Given the description of an element on the screen output the (x, y) to click on. 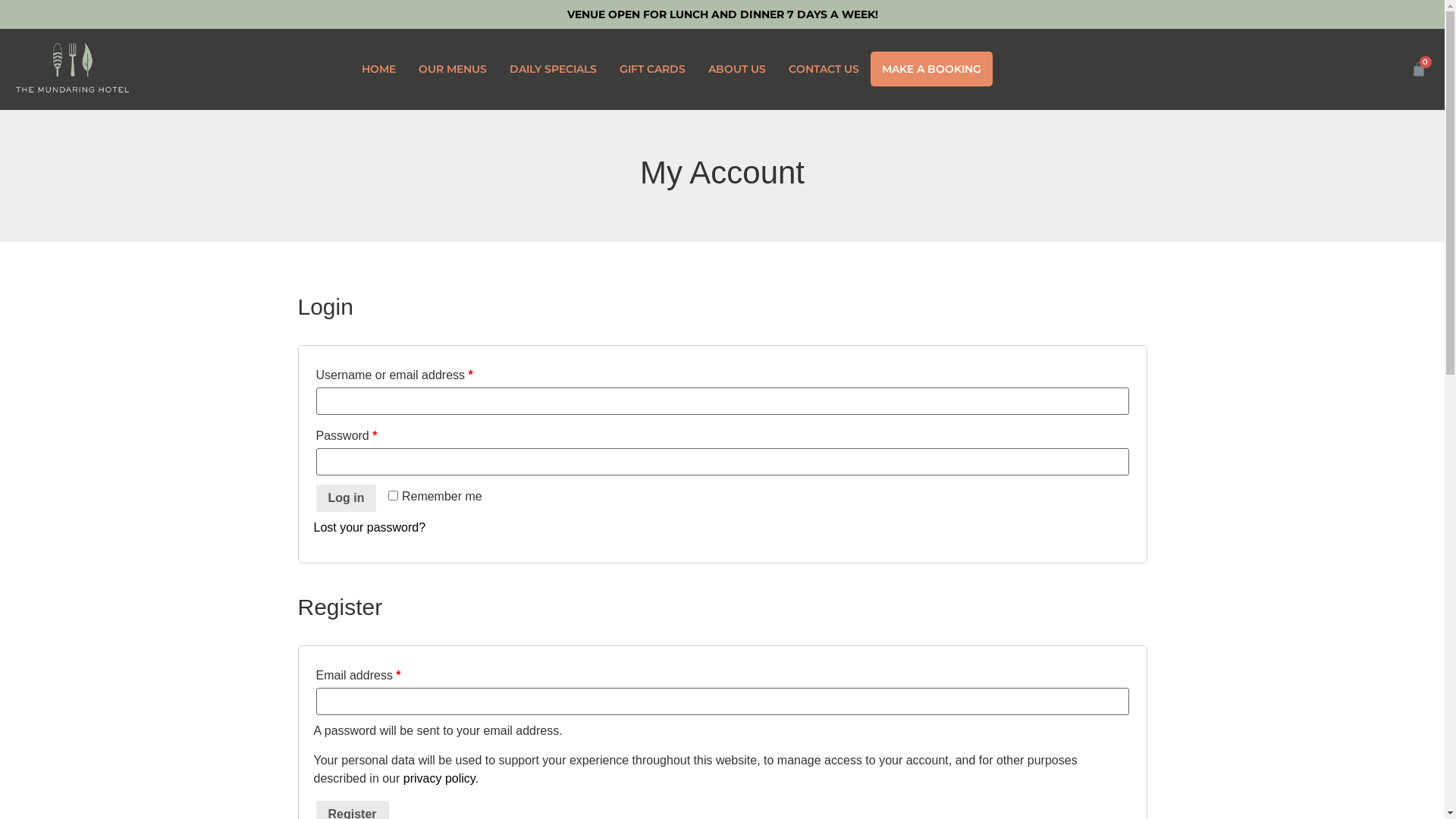
HOME Element type: text (378, 68)
Lost your password? Element type: text (369, 526)
CONTACT US Element type: text (823, 68)
GIFT CARDS Element type: text (652, 68)
ABOUT US Element type: text (736, 68)
OUR MENUS Element type: text (452, 68)
Log in Element type: text (345, 497)
MAKE A BOOKING Element type: text (931, 68)
privacy policy Element type: text (439, 777)
DAILY SPECIALS Element type: text (553, 68)
